Given the description of an element on the screen output the (x, y) to click on. 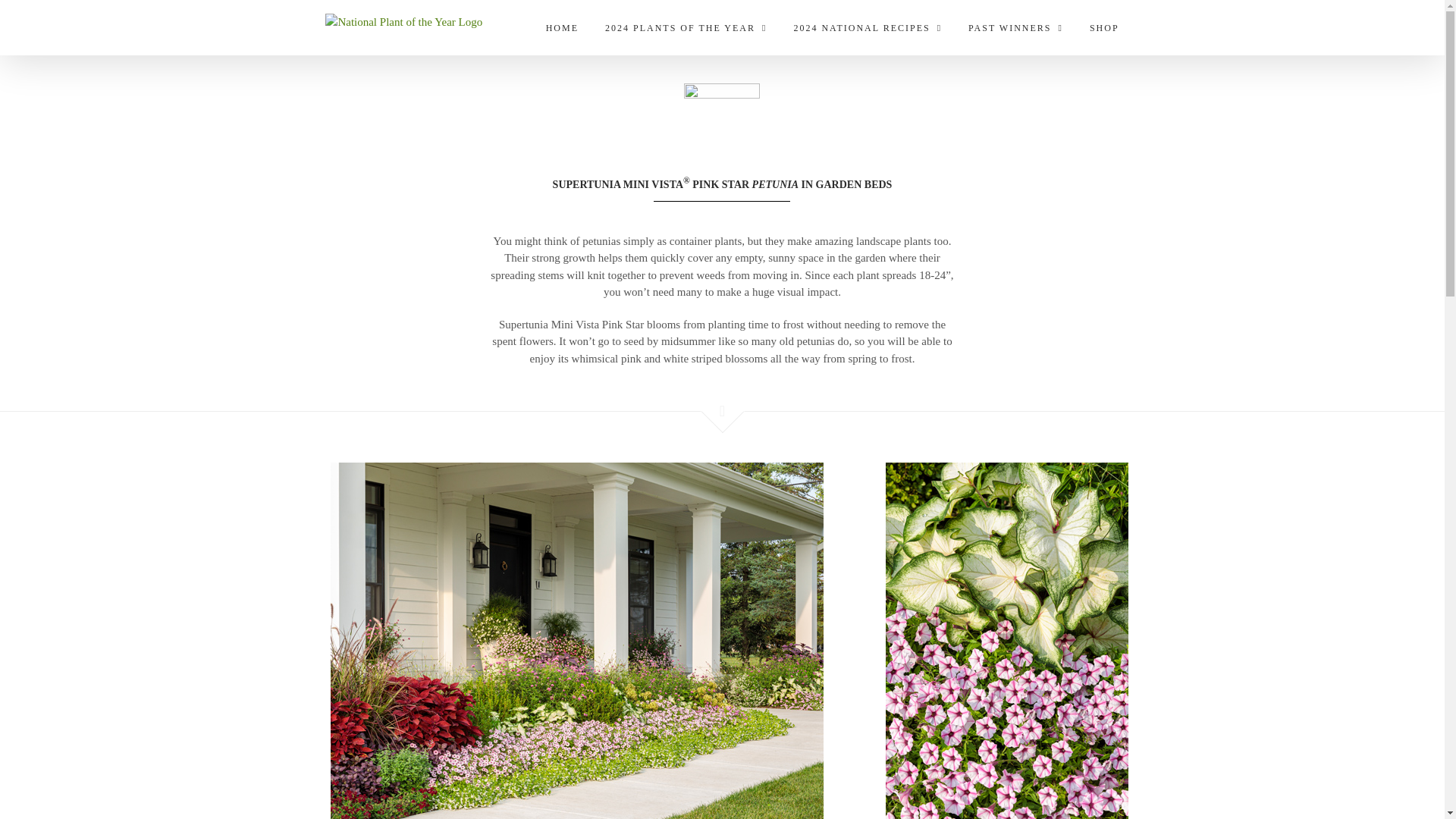
2024 PLANTS OF THE YEAR (686, 27)
2024 NATIONAL RECIPES (867, 27)
PAST WINNERS (1015, 27)
